Given the description of an element on the screen output the (x, y) to click on. 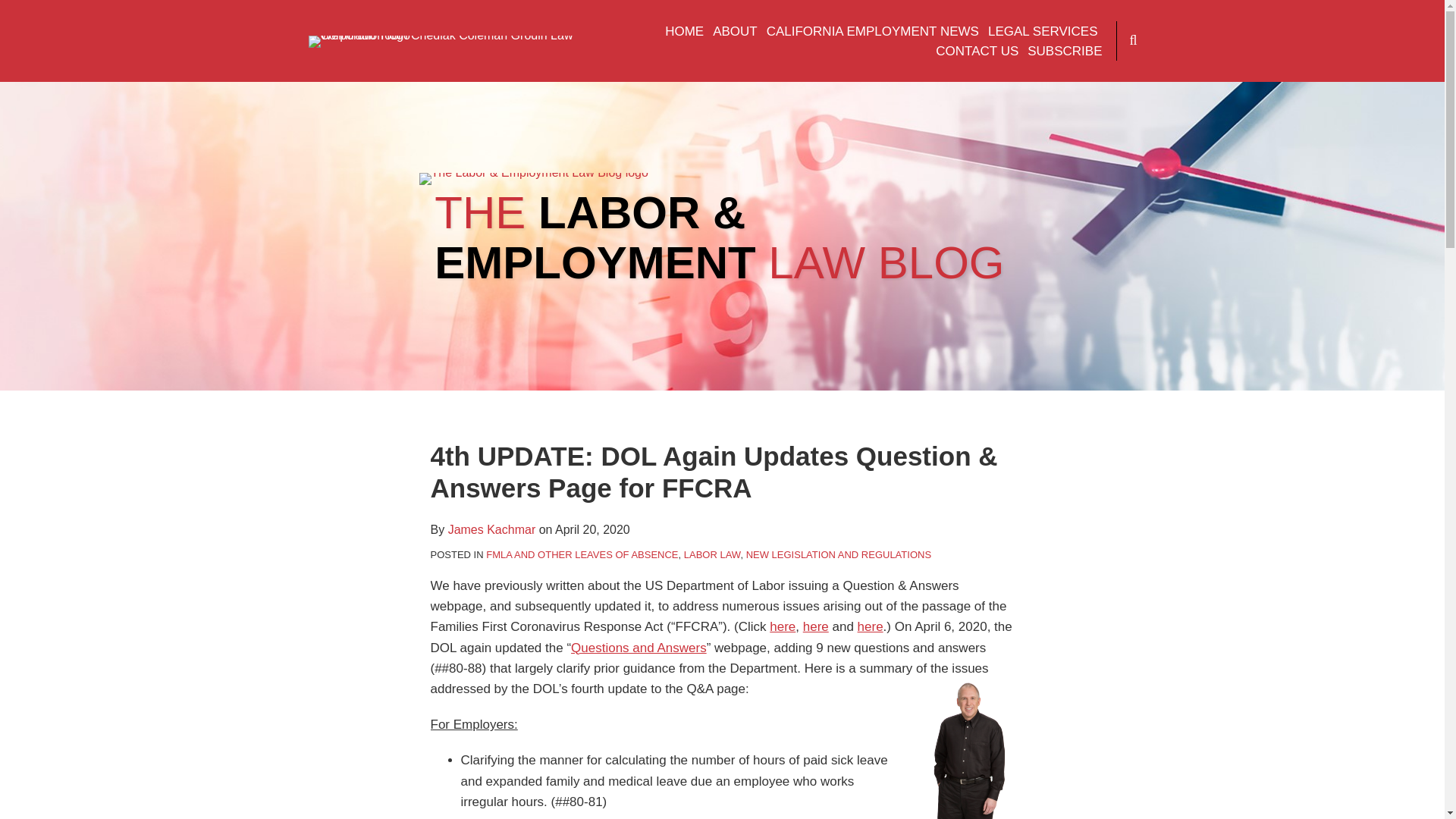
James Kachmar (491, 529)
CONTACT US (976, 51)
LEGAL SERVICES (1042, 31)
NEW LEGISLATION AND REGULATIONS (838, 554)
SUBSCRIBE (1064, 51)
here (870, 626)
here (815, 626)
FMLA AND OTHER LEAVES OF ABSENCE (582, 554)
Questions and Answers (638, 647)
HOME (684, 31)
